Given the description of an element on the screen output the (x, y) to click on. 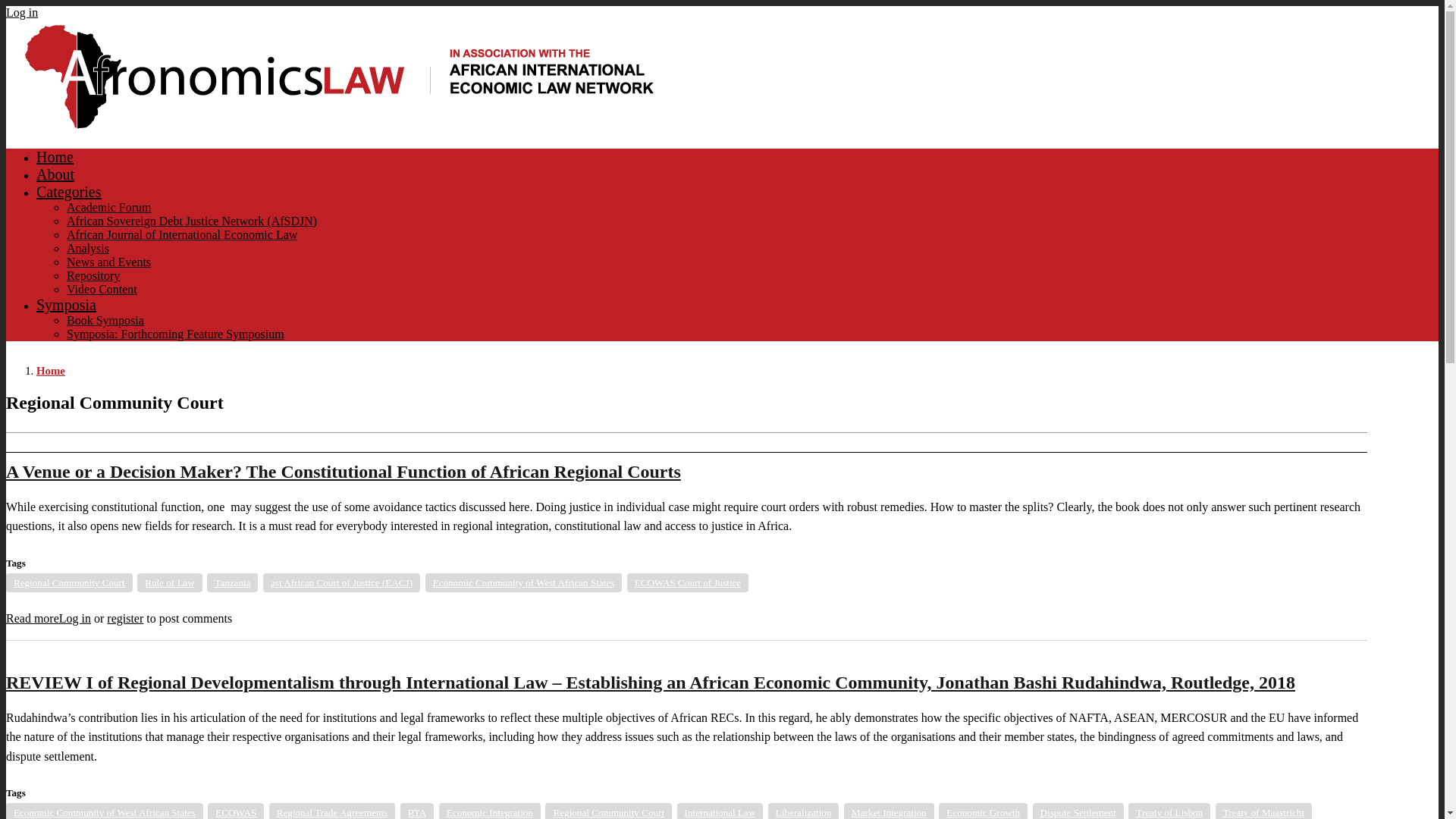
Video Content (101, 288)
African Journal of International Economic Law (181, 234)
African Journal of International Economic Law (181, 234)
Economic Community of West African States (524, 582)
News and Events (108, 261)
Analysis (87, 247)
Book Symposia (105, 319)
Log in (21, 11)
Categories (68, 191)
Categories (68, 191)
Economic Community of West African States (104, 811)
News and Events (108, 261)
Home (55, 156)
ECOWAS Court of Justice (687, 582)
